Given the description of an element on the screen output the (x, y) to click on. 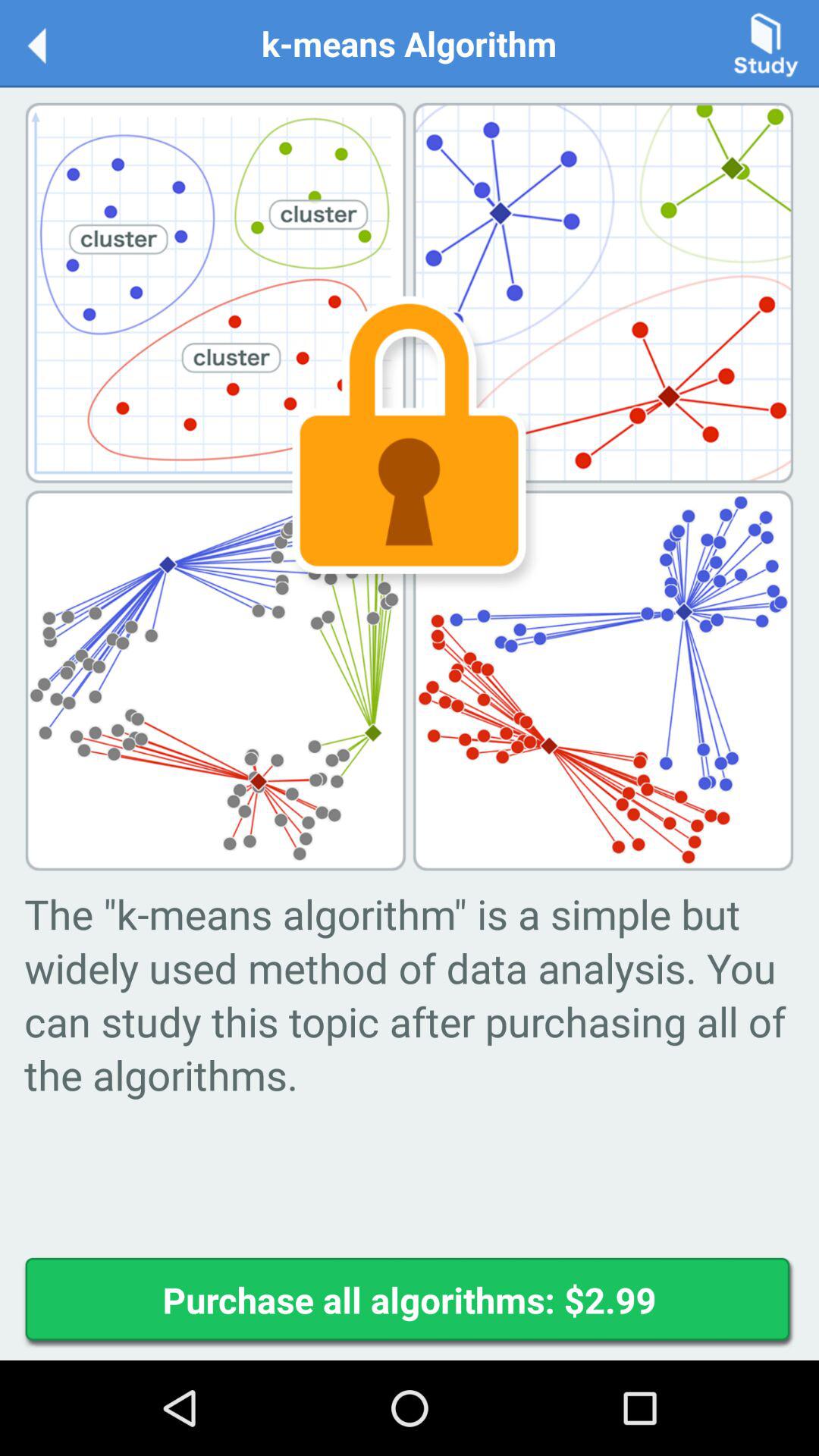
opens study window (766, 42)
